Given the description of an element on the screen output the (x, y) to click on. 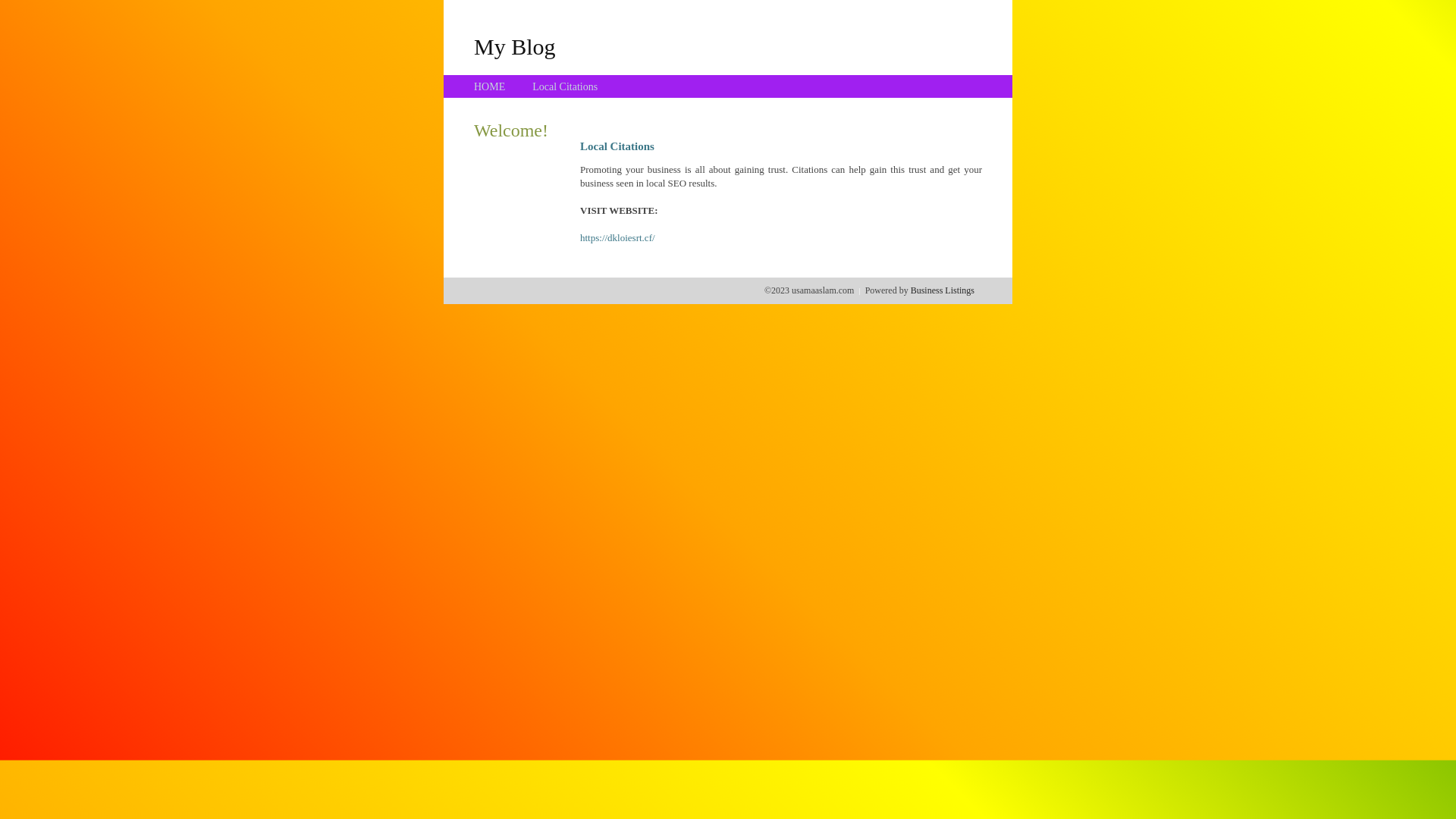
HOME Element type: text (489, 86)
Business Listings Element type: text (942, 290)
My Blog Element type: text (514, 46)
https://dkloiesrt.cf/ Element type: text (617, 237)
Local Citations Element type: text (564, 86)
